Given the description of an element on the screen output the (x, y) to click on. 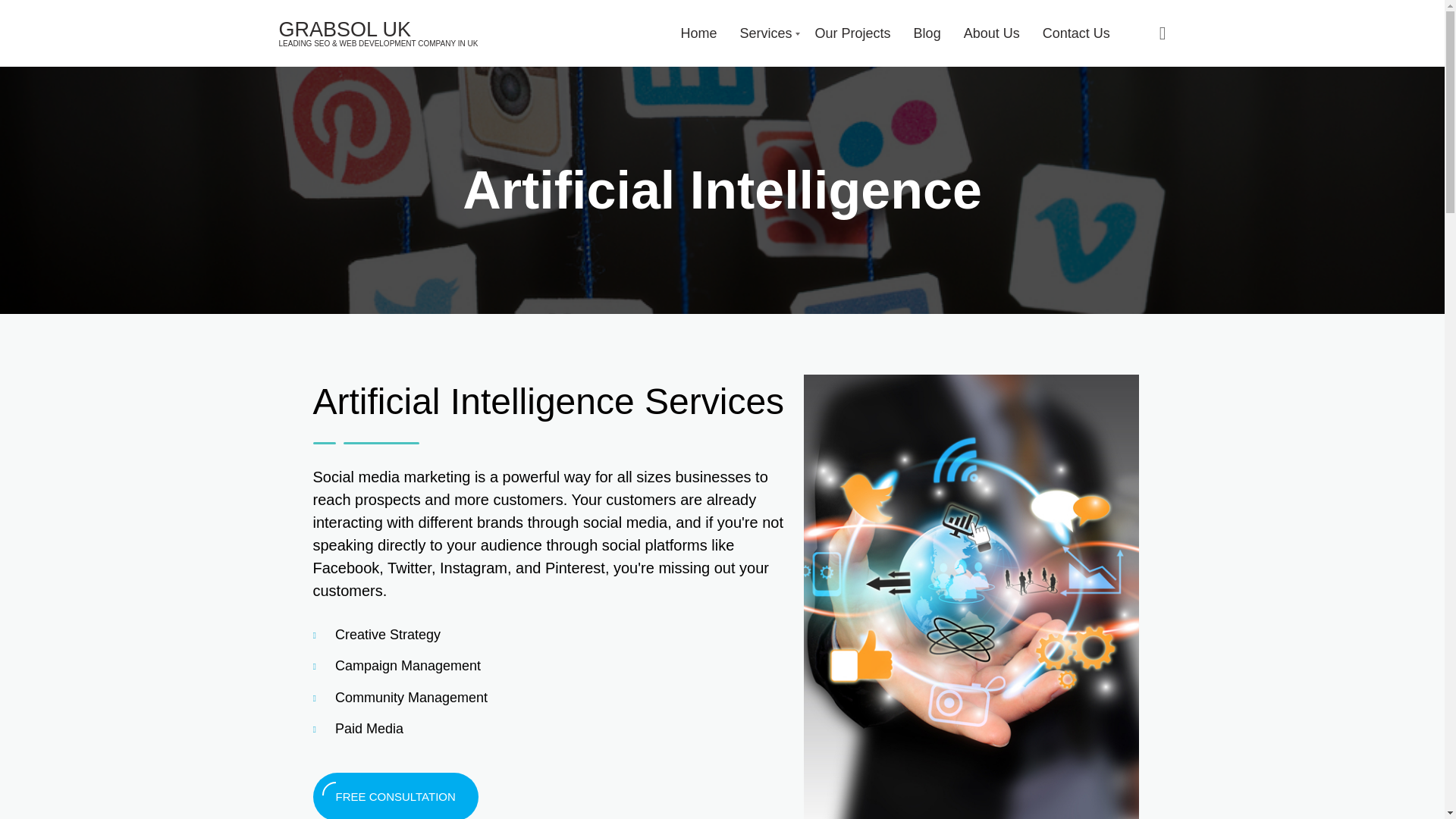
Our Projects (853, 33)
About Us (991, 33)
Home (699, 33)
Contact Us (1075, 33)
Services (765, 33)
Blog (927, 33)
FREE CONSULTATION (395, 796)
